Given the description of an element on the screen output the (x, y) to click on. 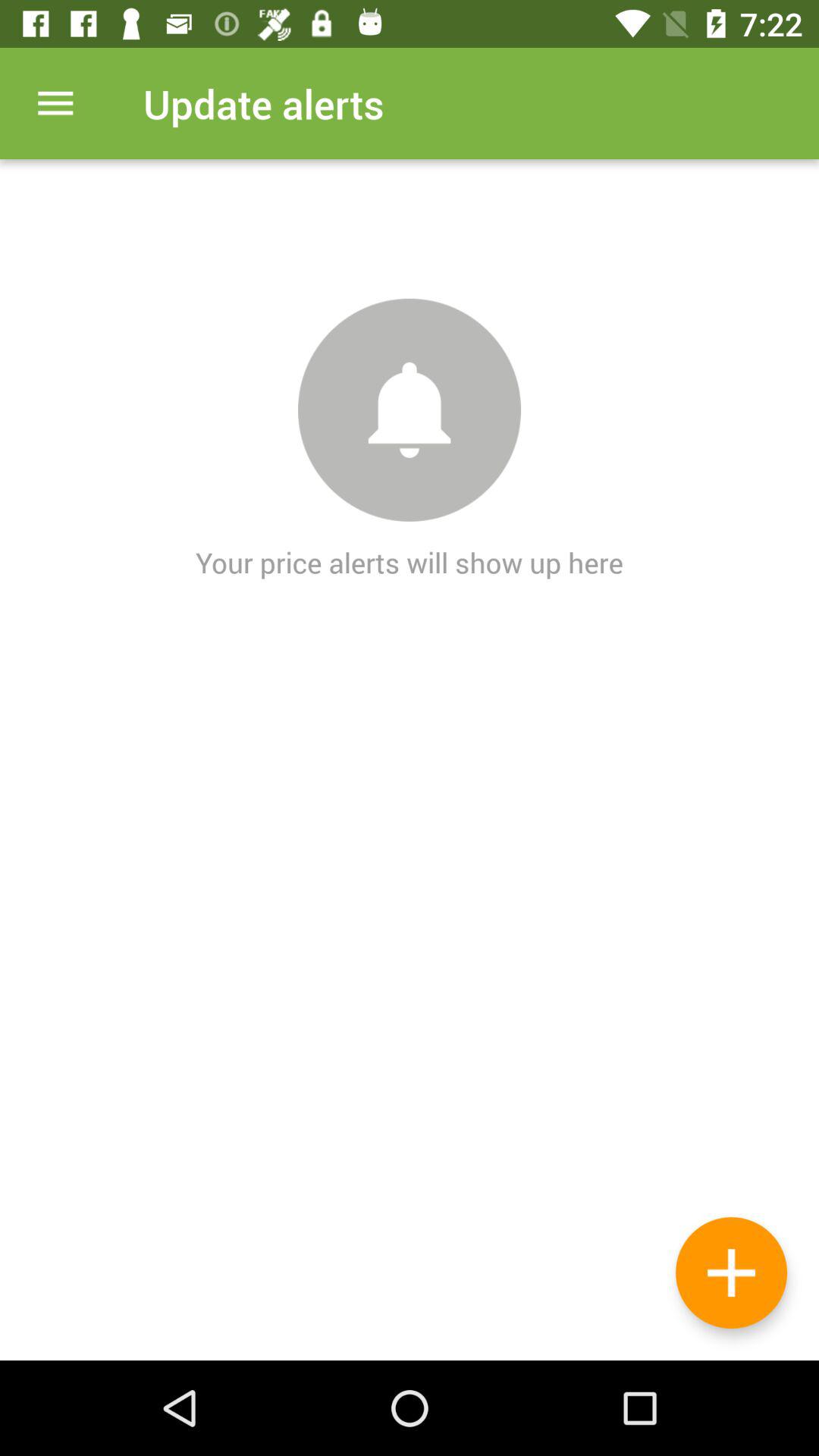
menu (55, 103)
